Given the description of an element on the screen output the (x, y) to click on. 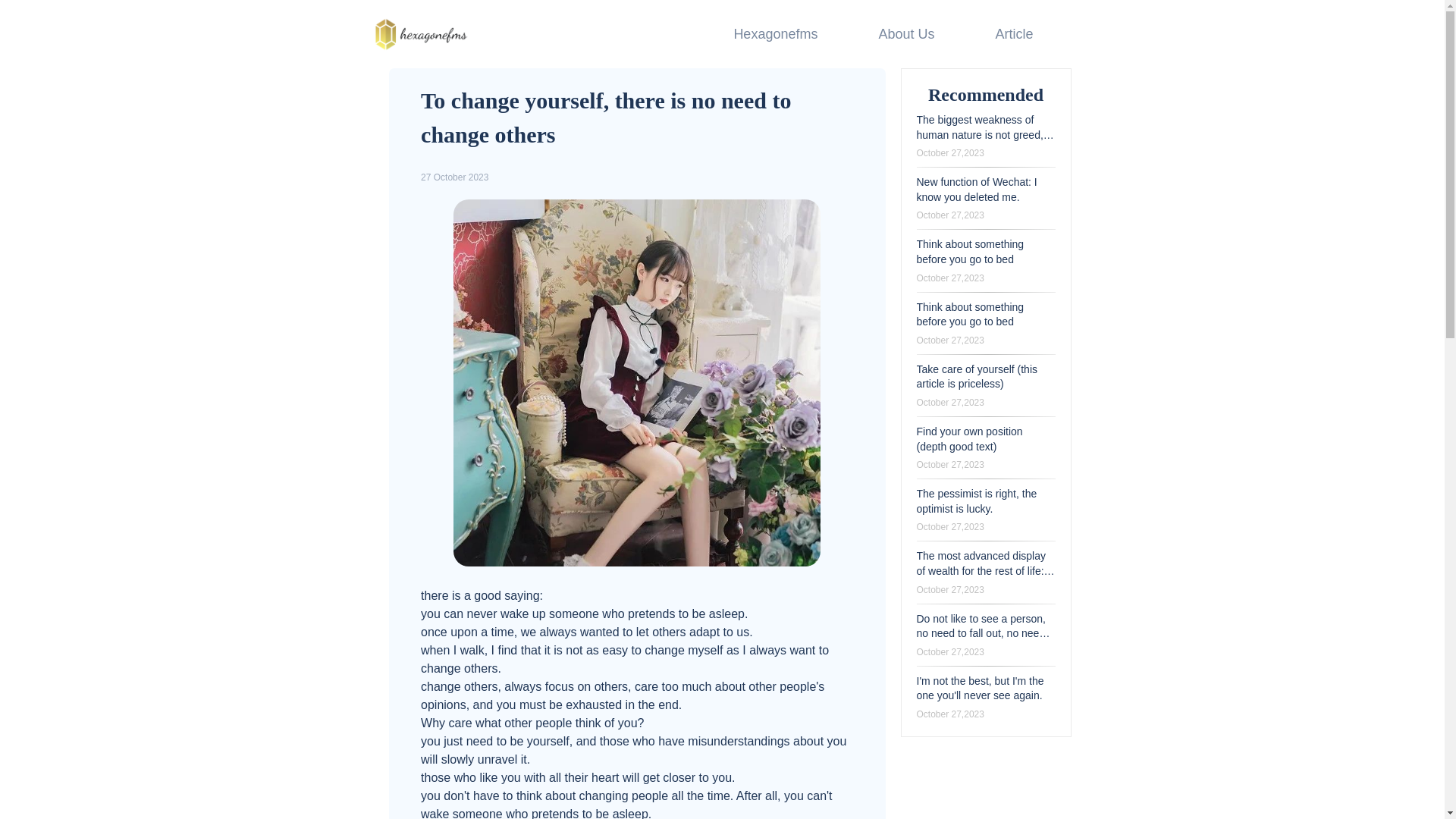
Think about something before you go to bed (969, 314)
About Us (905, 32)
Article (1013, 32)
New function of Wechat: I know you deleted me. (975, 189)
The pessimist is right, the optimist is lucky. (975, 501)
Think about something before you go to bed (969, 251)
Hexagonefms (774, 32)
